Given the description of an element on the screen output the (x, y) to click on. 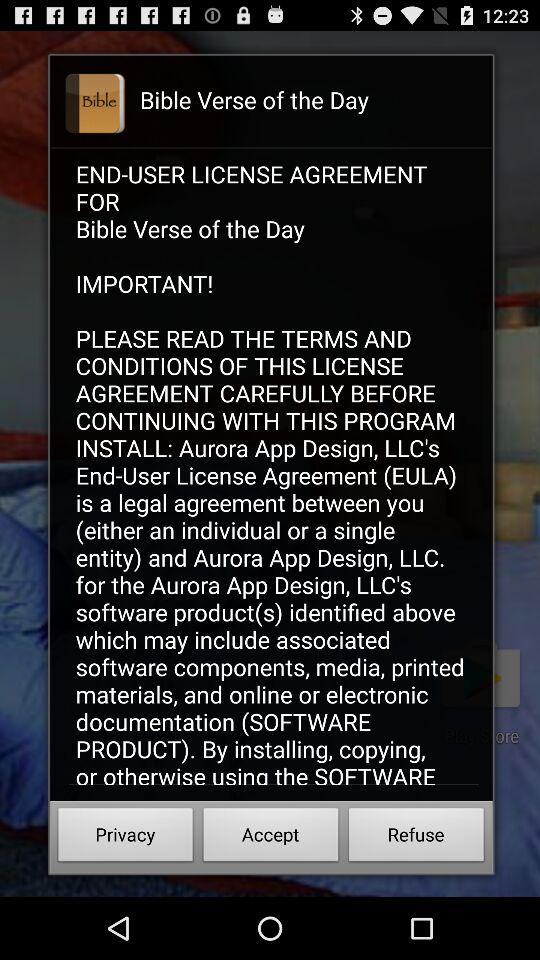
turn off item to the left of the accept (125, 837)
